Given the description of an element on the screen output the (x, y) to click on. 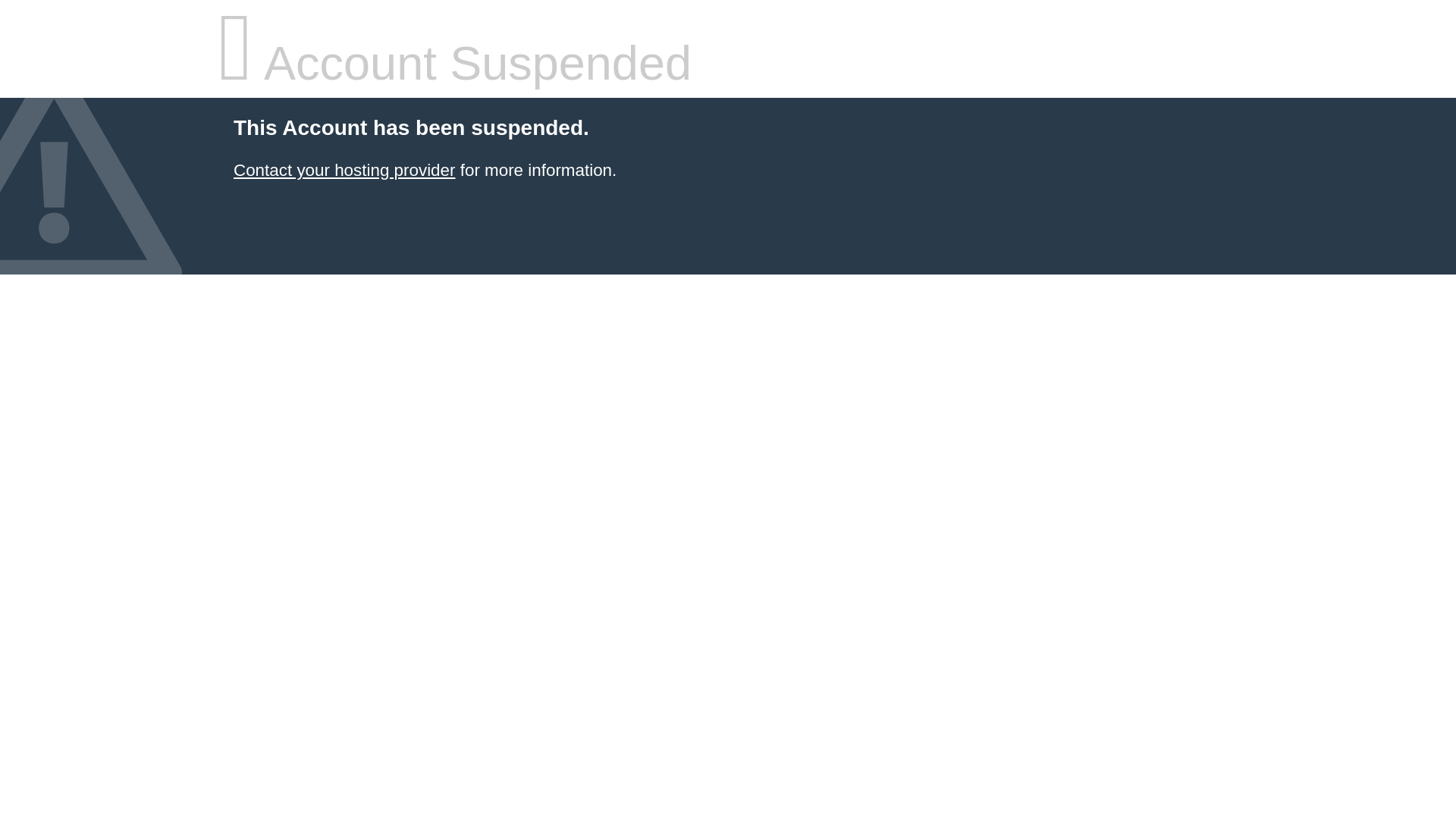
Contact your hosting provider (343, 169)
